Given the description of an element on the screen output the (x, y) to click on. 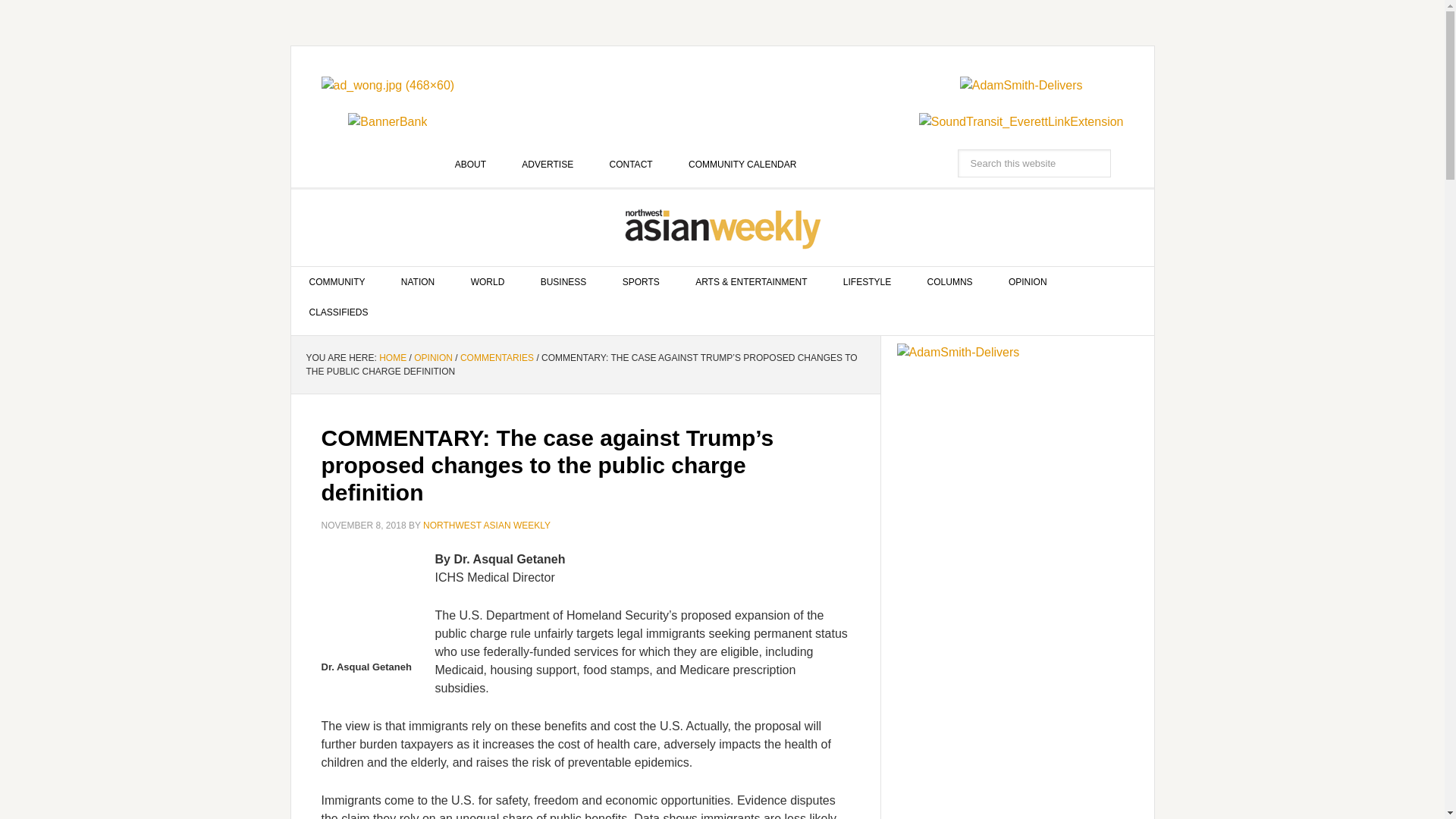
OPINION (432, 357)
COMMUNITY (337, 281)
COLUMNS (949, 281)
WORLD (487, 281)
BUSINESS (563, 281)
CONTACT (631, 164)
ABOUT (469, 164)
COMMUNITY CALENDAR (741, 164)
CLASSIFIEDS (339, 312)
HOME (392, 357)
OPINION (1027, 281)
NORTHWEST ASIAN WEEKLY (722, 227)
